Given the description of an element on the screen output the (x, y) to click on. 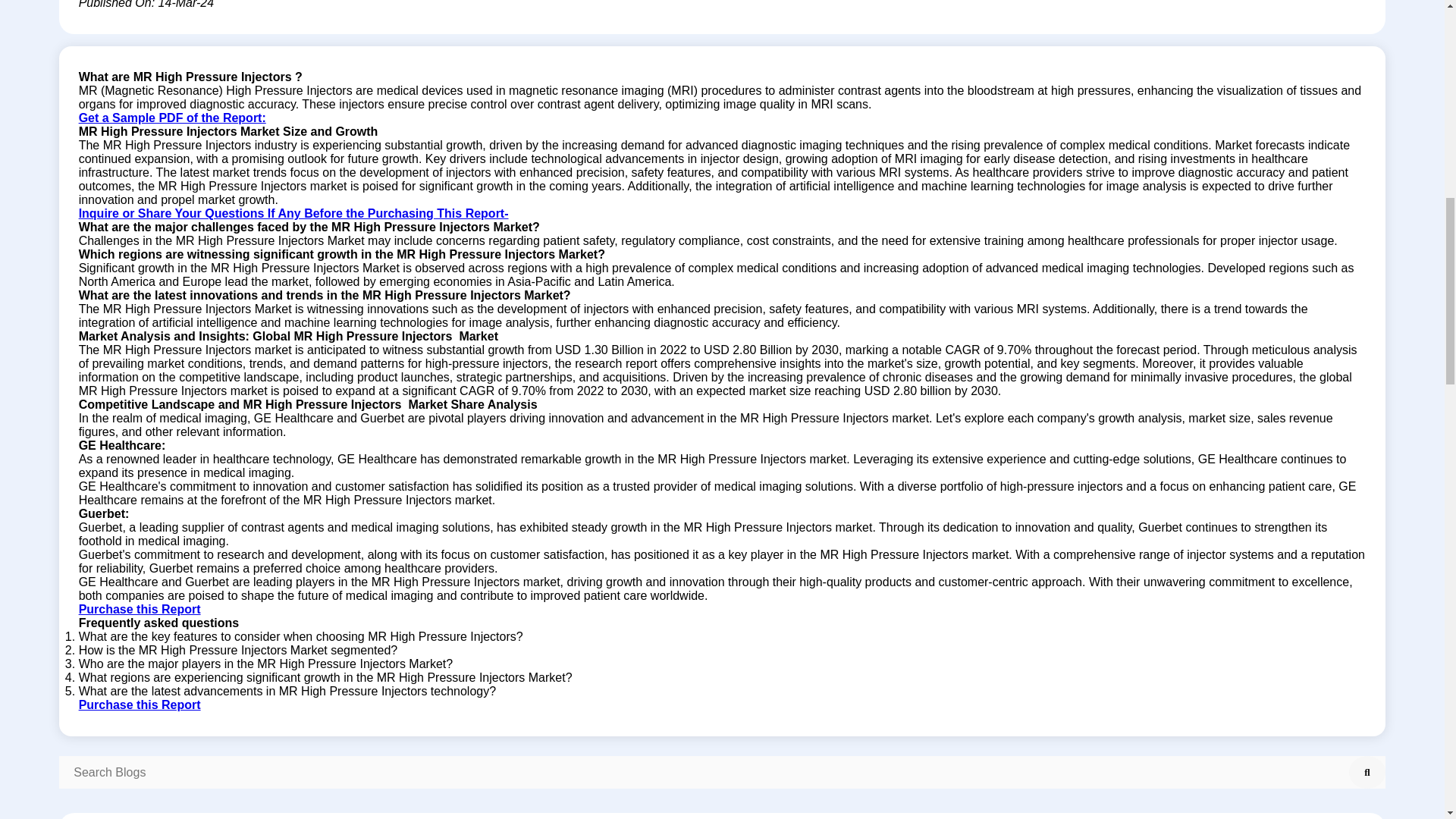
Get a Sample PDF of the Report: (172, 117)
Purchase this Report (139, 608)
Purchase this Report (139, 704)
